Given the description of an element on the screen output the (x, y) to click on. 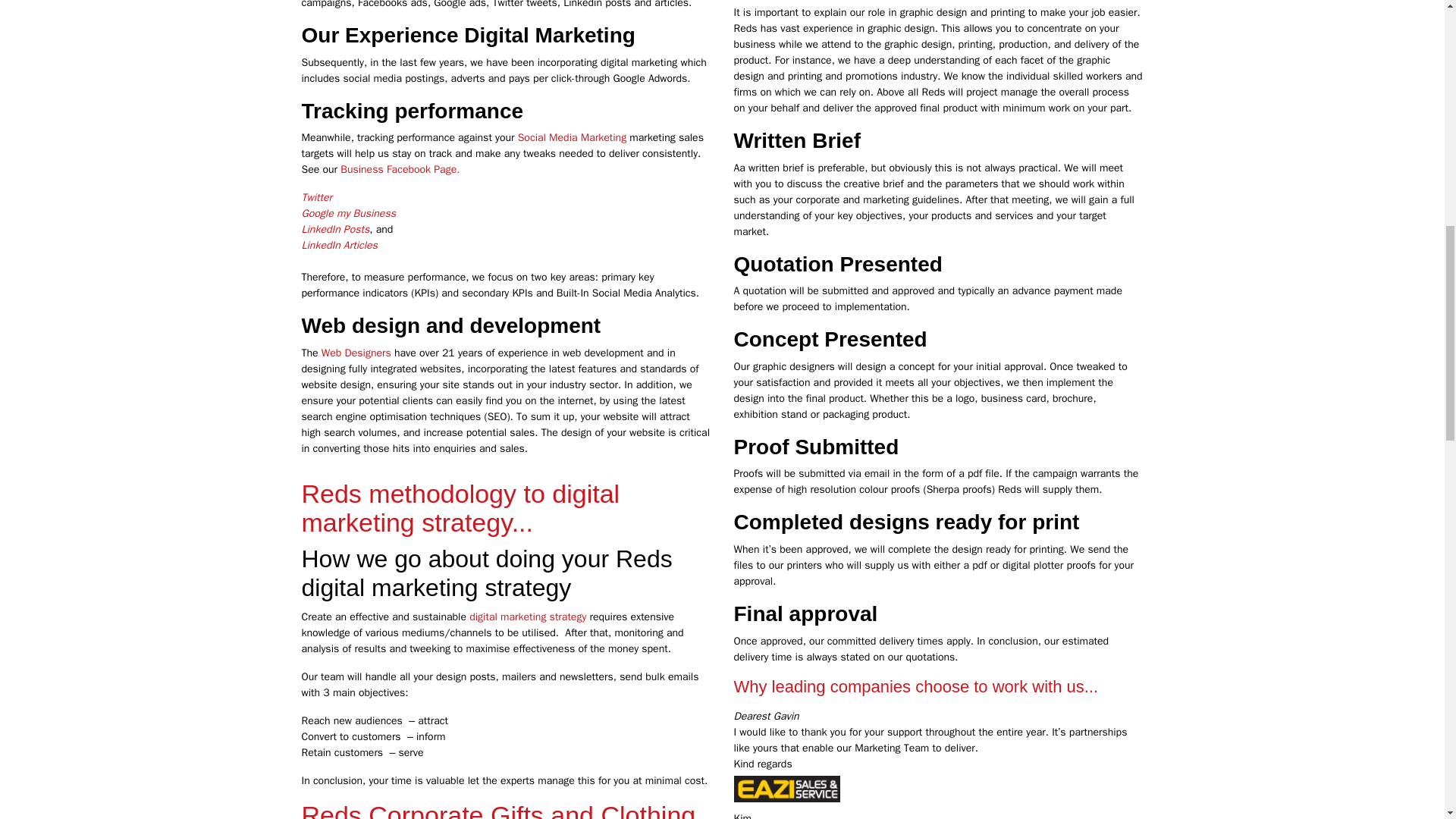
View our Digital Marketing Strategies (527, 616)
EAZI LOGO (786, 788)
